Given the description of an element on the screen output the (x, y) to click on. 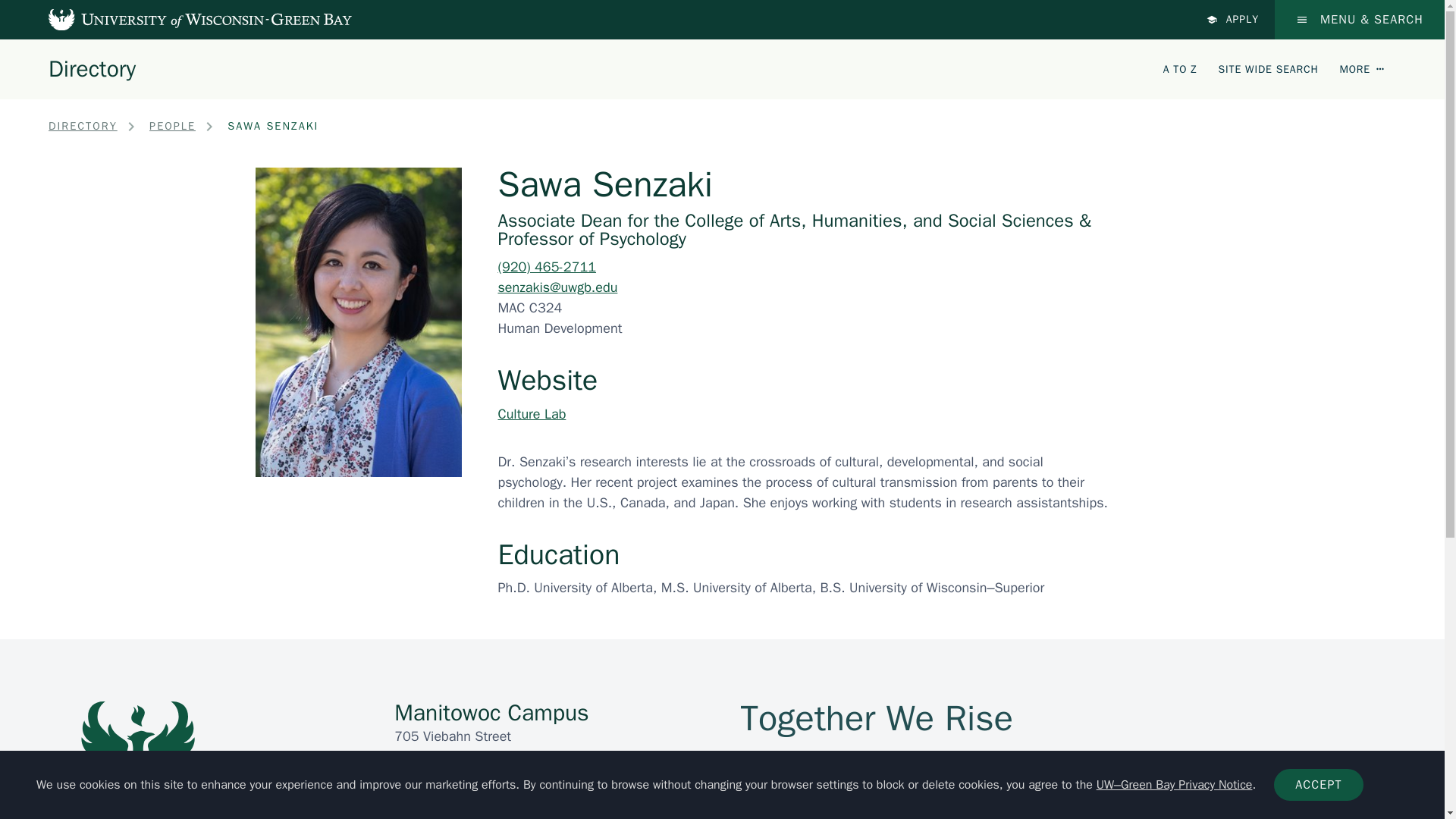
A TO Z (1179, 68)
University of Wisconsin-Green Bay logo (139, 760)
APPLY (1233, 19)
MORE (1362, 68)
SITE WIDE SEARCH (1268, 68)
Directory (91, 68)
Accept (1318, 784)
